Given the description of an element on the screen output the (x, y) to click on. 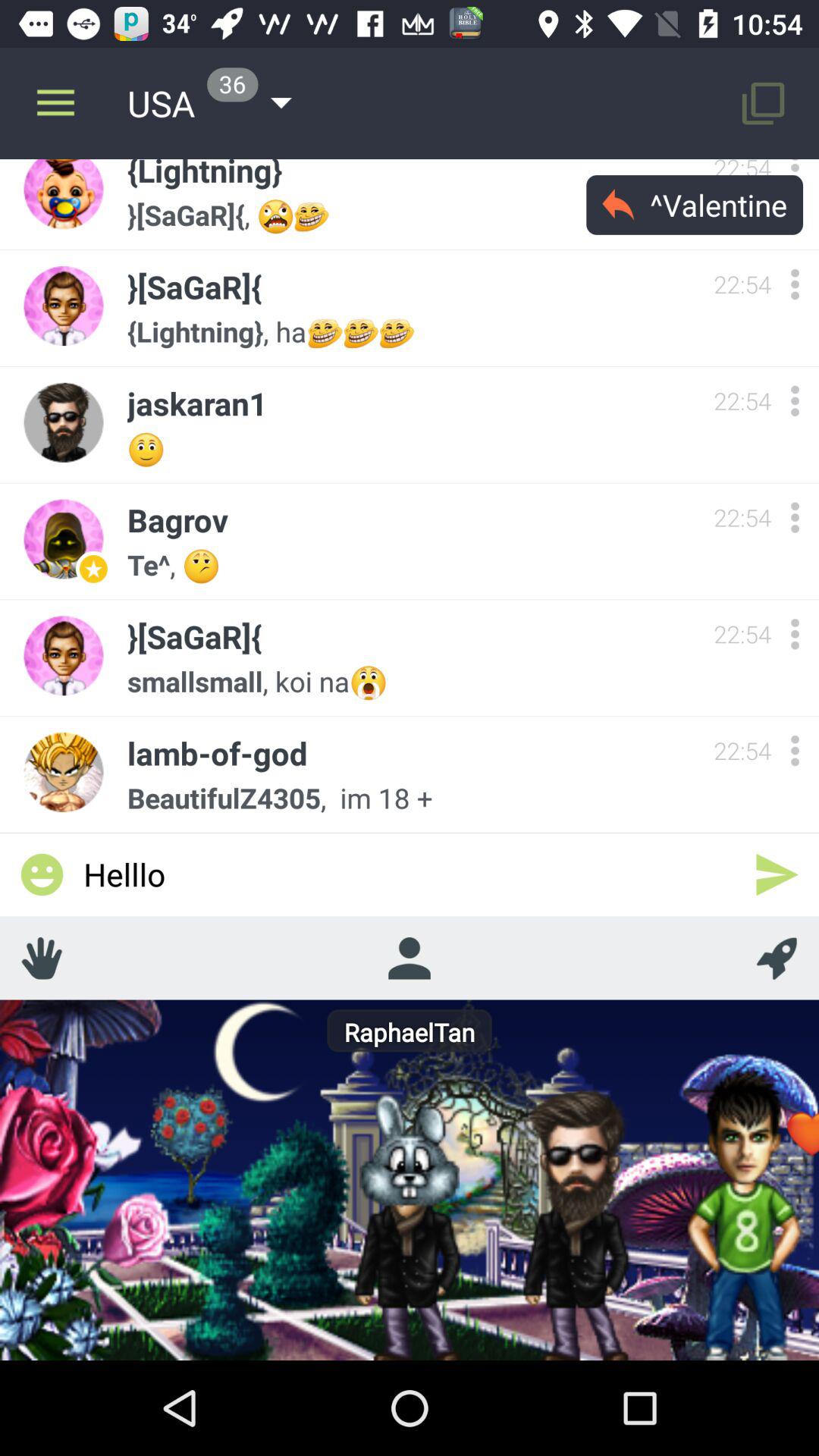
show more options (795, 750)
